Given the description of an element on the screen output the (x, y) to click on. 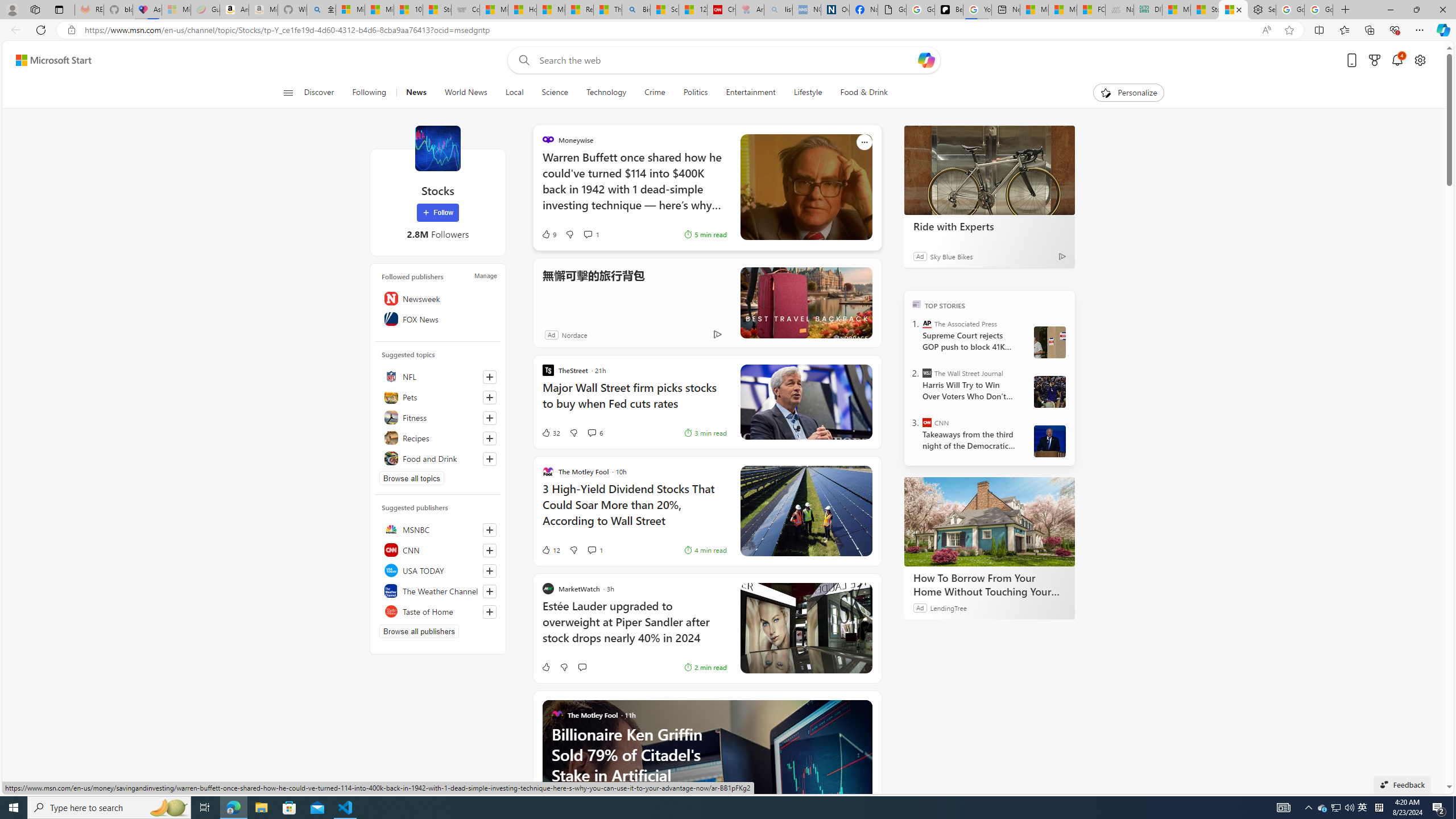
World News (465, 92)
Technology (606, 92)
Microsoft rewards (1374, 60)
Address and search bar (669, 29)
How To Borrow From Your Home Without Touching Your Mortgage (989, 521)
Start the conversation (581, 666)
Like (544, 667)
View comments 1 Comment (591, 549)
Technology (605, 92)
Be Smart | creating Science videos | Patreon (949, 9)
Navy Quest (1119, 9)
Combat Siege (465, 9)
